Given the description of an element on the screen output the (x, y) to click on. 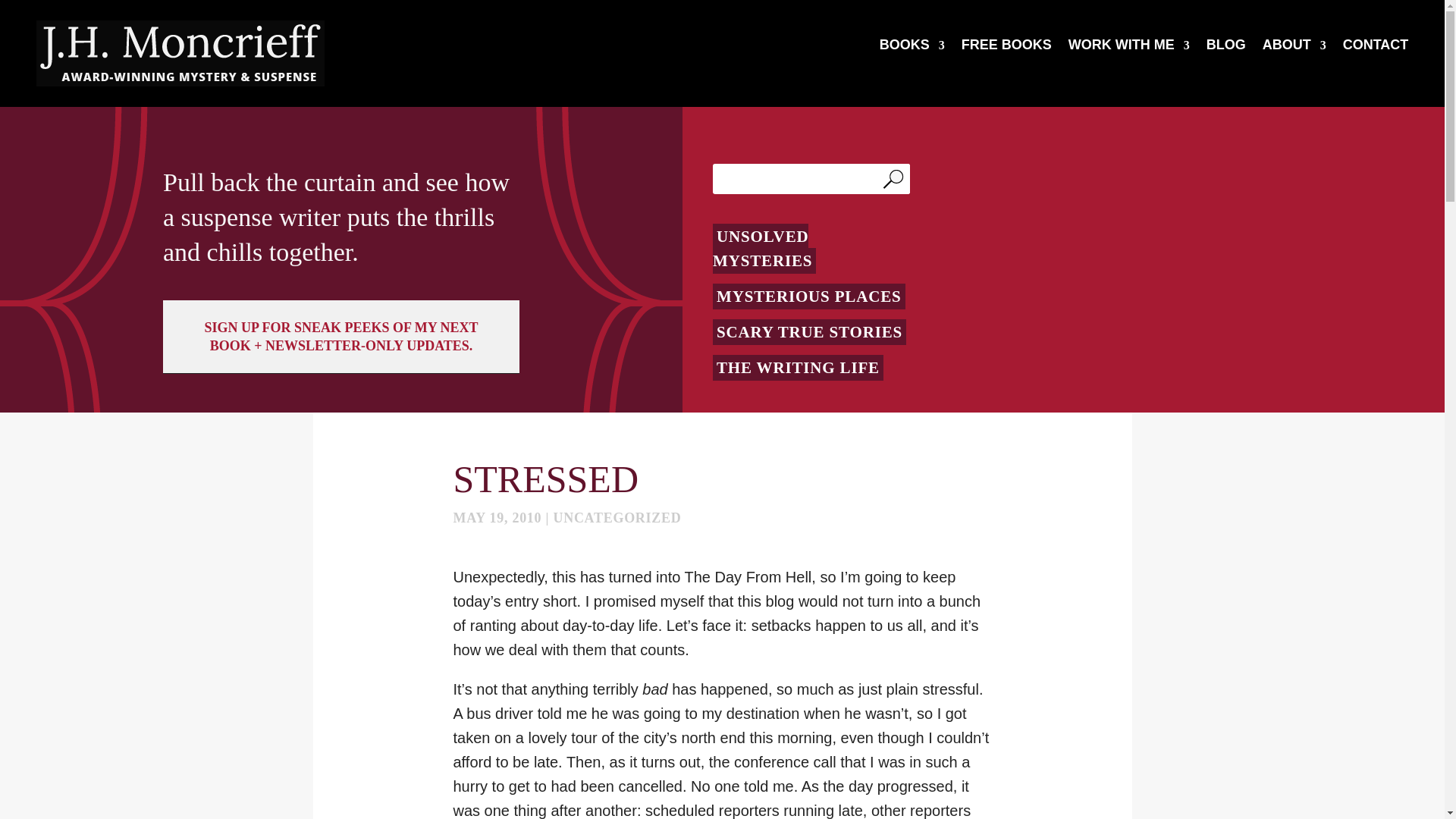
UNCATEGORIZED (617, 517)
ABOUT (1294, 47)
WORK WITH ME (1128, 47)
Search (896, 178)
BOOKS (911, 47)
UNSOLVED MYSTERIES (764, 248)
MYSTERIOUS PLACES (809, 296)
BLOG (1226, 47)
THE WRITING LIFE (798, 367)
FREE BOOKS (1005, 47)
